Given the description of an element on the screen output the (x, y) to click on. 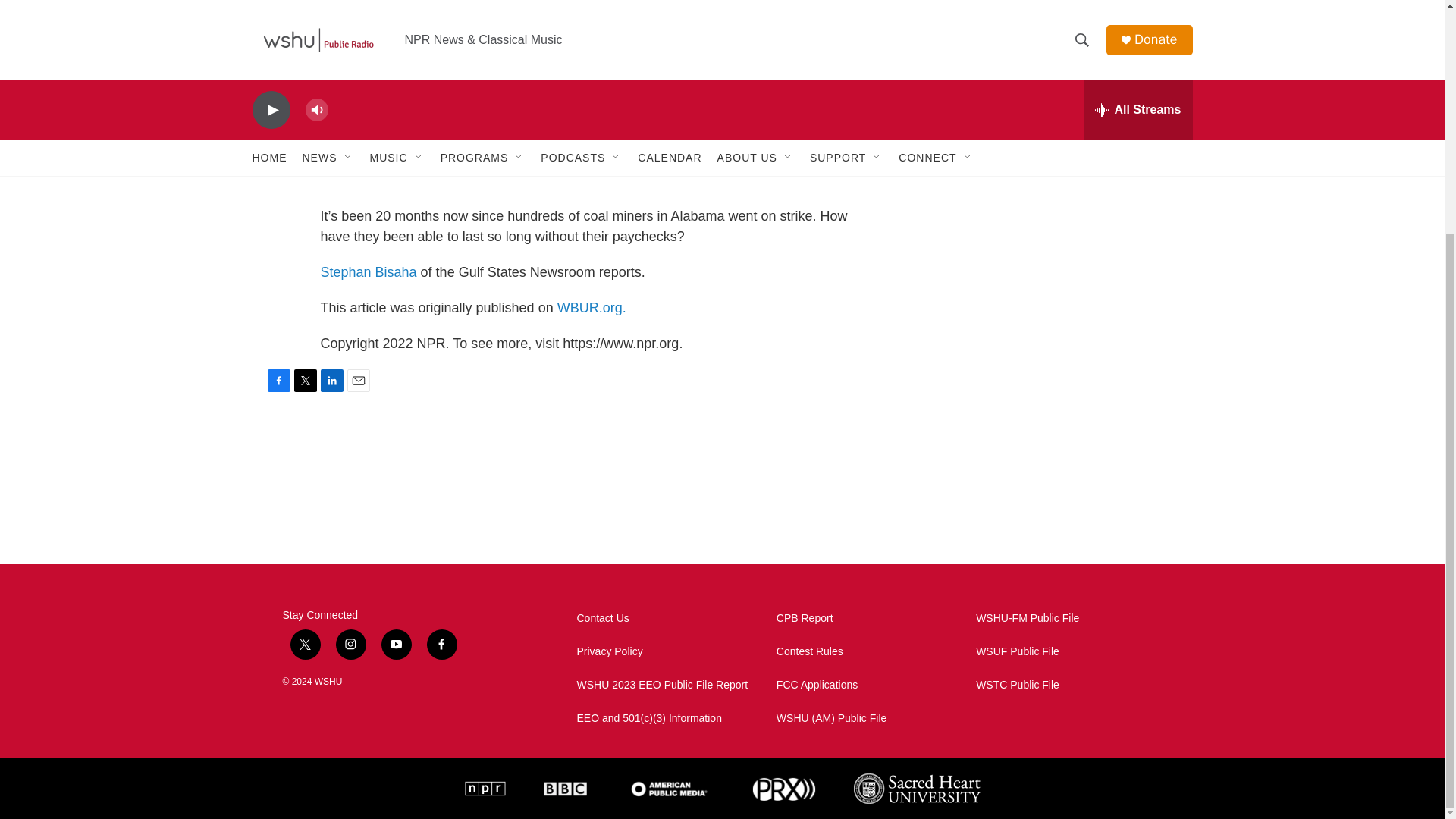
3rd party ad content (1062, 47)
3rd party ad content (1062, 438)
3rd party ad content (1062, 218)
